Given the description of an element on the screen output the (x, y) to click on. 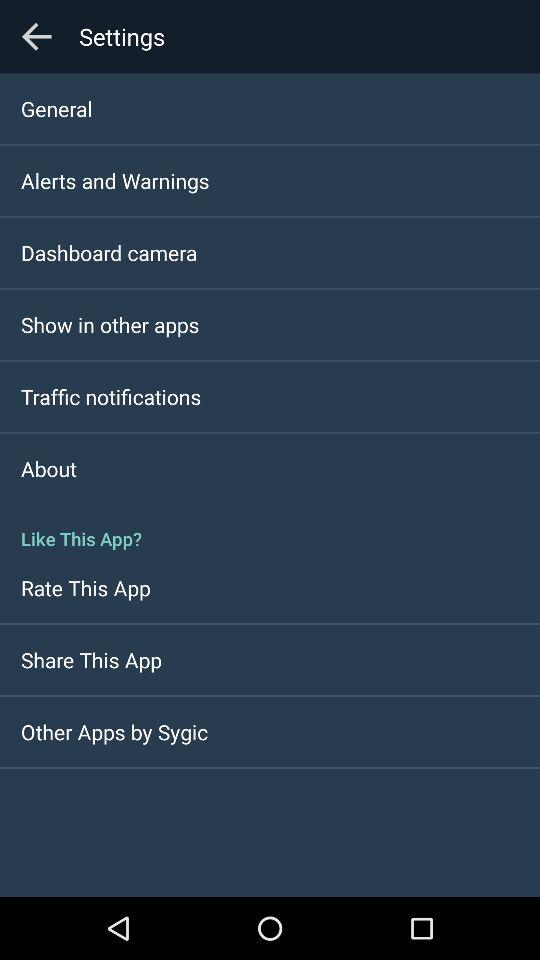
launch the item above the like this app? item (48, 468)
